Given the description of an element on the screen output the (x, y) to click on. 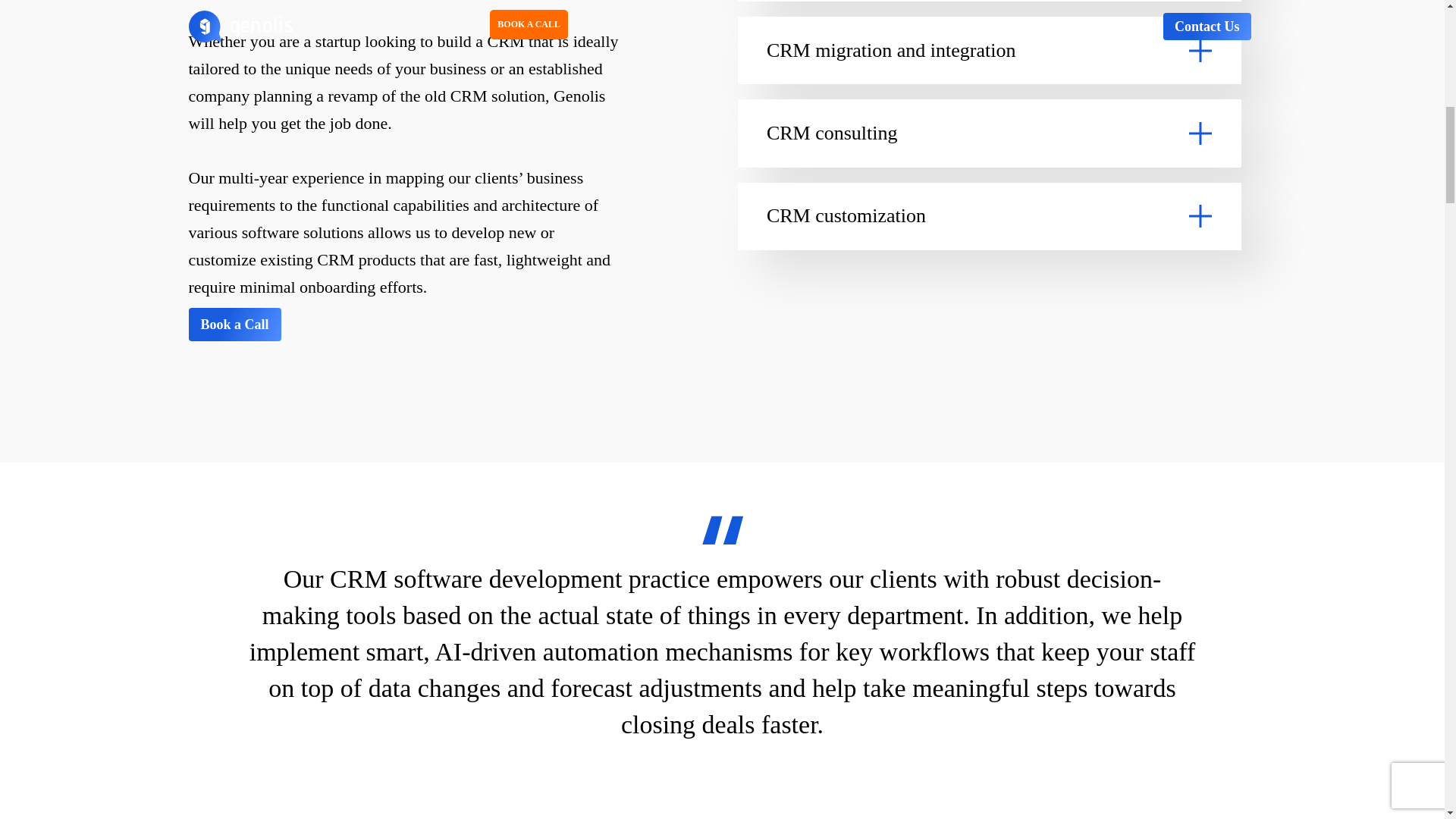
Book a Call (234, 324)
